Given the description of an element on the screen output the (x, y) to click on. 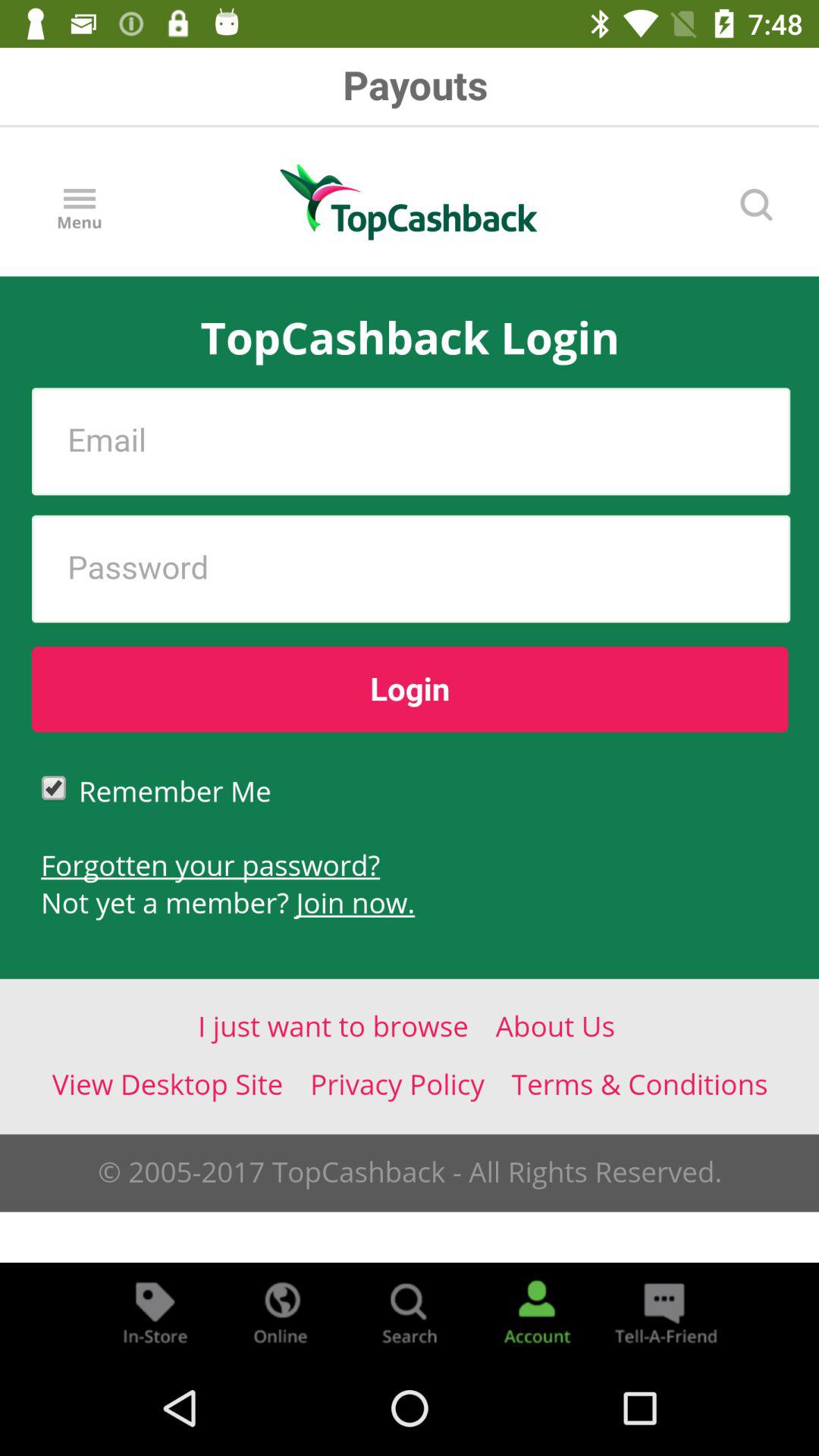
online survey (281, 1311)
